Given the description of an element on the screen output the (x, y) to click on. 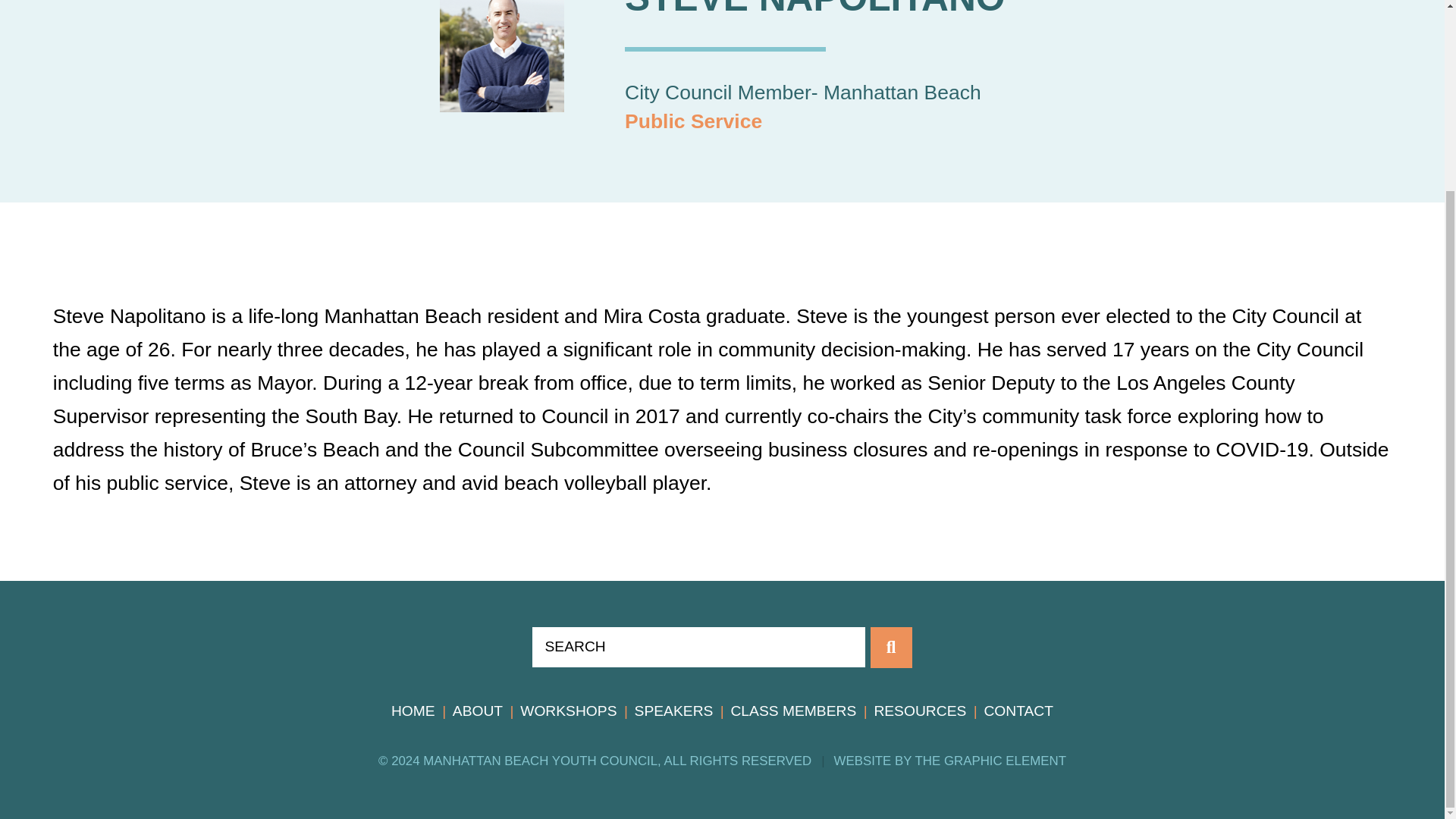
ABOUT (477, 710)
Search for: (698, 646)
HOME (413, 710)
SUBMIT (891, 647)
WORKSHOPS (567, 710)
Public Service (692, 120)
